Given the description of an element on the screen output the (x, y) to click on. 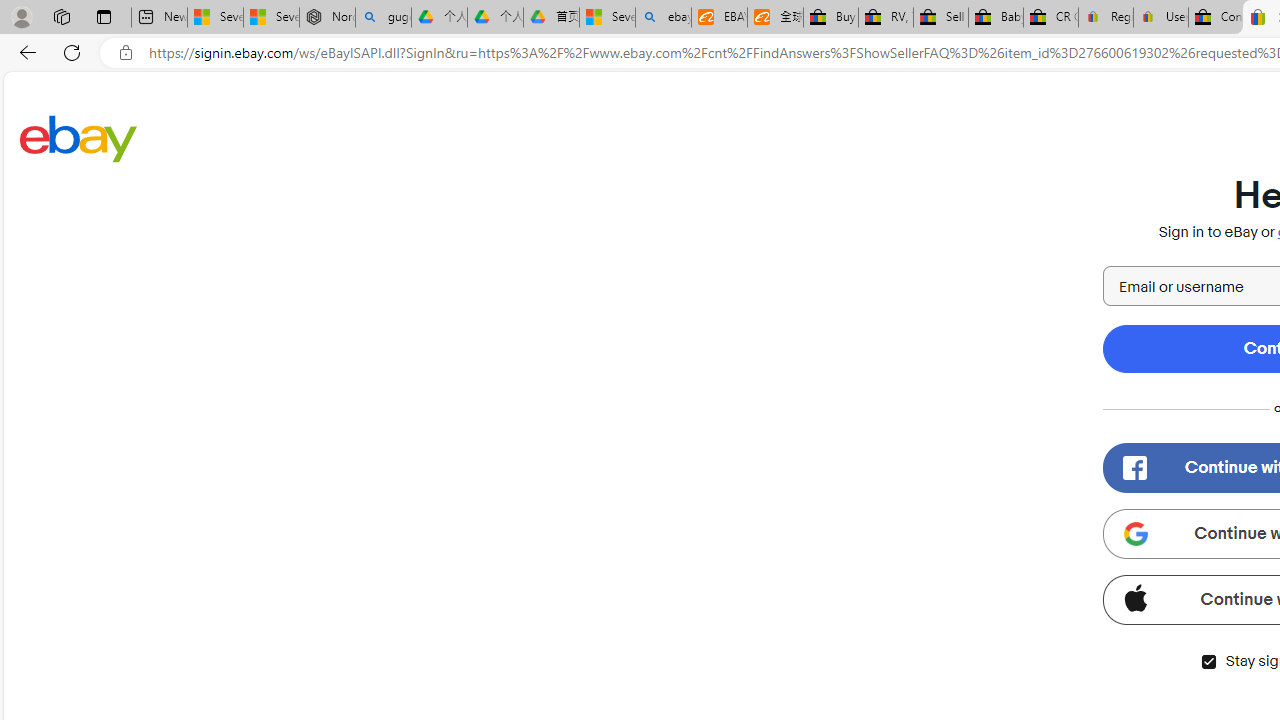
guge yunpan - Search (382, 17)
Class: fb-icon (1134, 467)
Register: Create a personal eBay account (1105, 17)
